Given the description of an element on the screen output the (x, y) to click on. 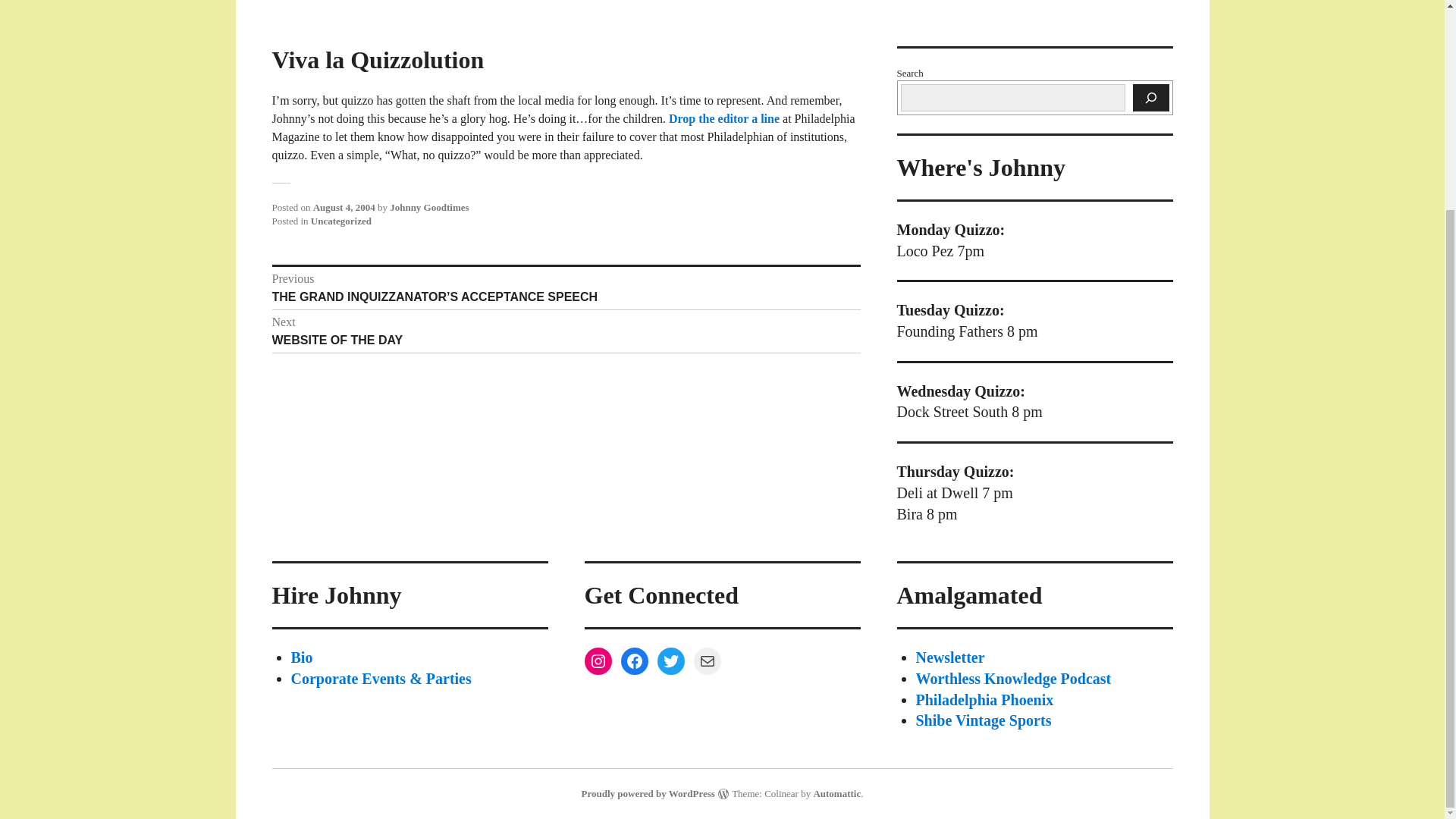
Proudly powered by WordPress (647, 793)
Uncategorized (341, 220)
Instagram (597, 660)
Facebook (633, 660)
Automattic (836, 793)
Johnny Goodtimes (565, 330)
Twitter (429, 206)
Drop the editor a line (670, 660)
Bio (725, 118)
